Given the description of an element on the screen output the (x, y) to click on. 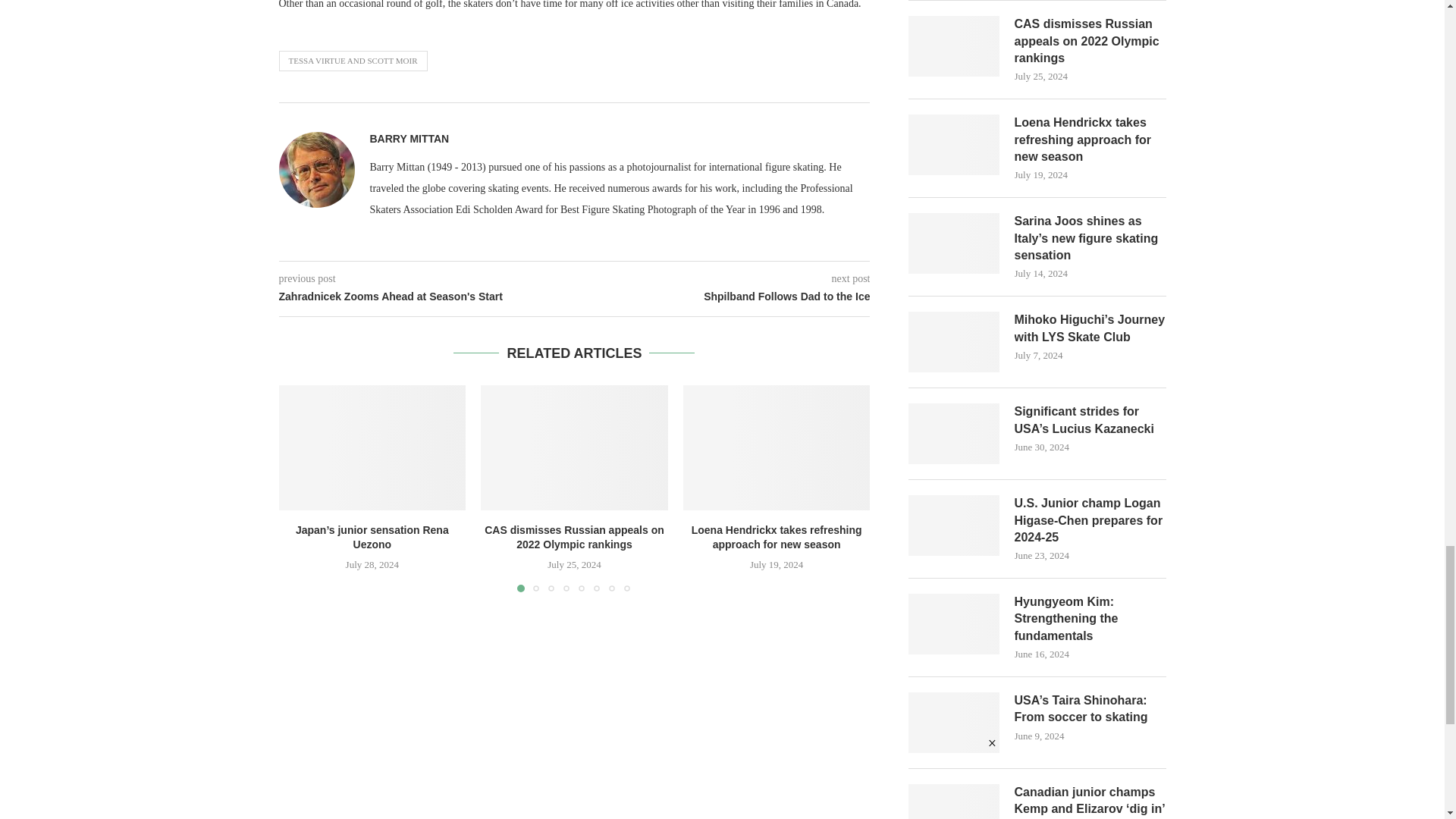
Author Barry Mittan (409, 138)
Loena Hendrickx takes refreshing approach for new season (776, 446)
CAS dismisses Russian appeals on 2022 Olympic rankings (574, 446)
